Given the description of an element on the screen output the (x, y) to click on. 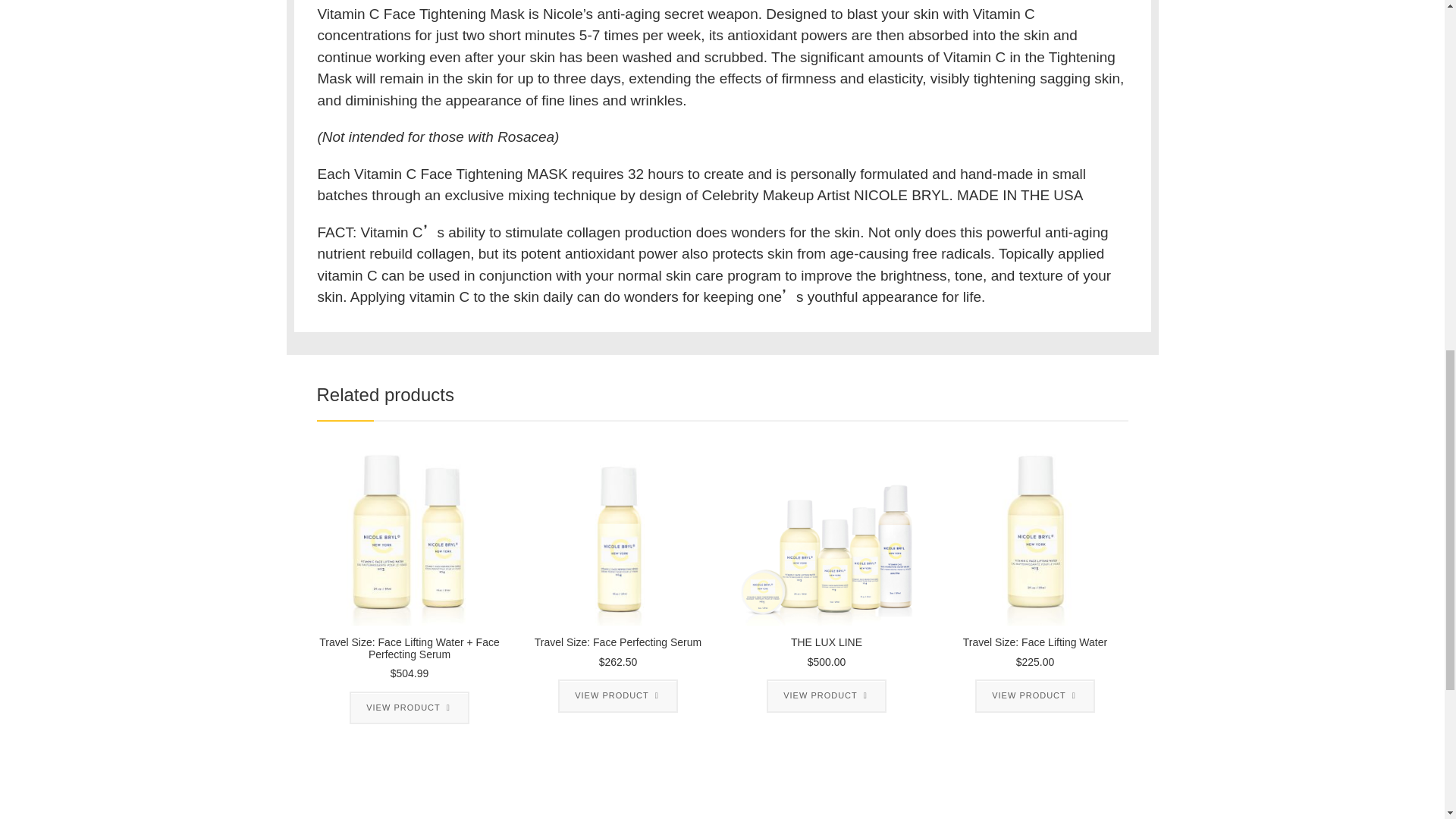
VIEW PRODUCT (617, 695)
VIEW PRODUCT (408, 707)
VIEW PRODUCT (826, 695)
VIEW PRODUCT (1034, 695)
Travel Size: Face Lifting Water   (1034, 532)
THE LUX LINE   (826, 532)
Travel Size: Face Perfecting Serum   (617, 532)
